Given the description of an element on the screen output the (x, y) to click on. 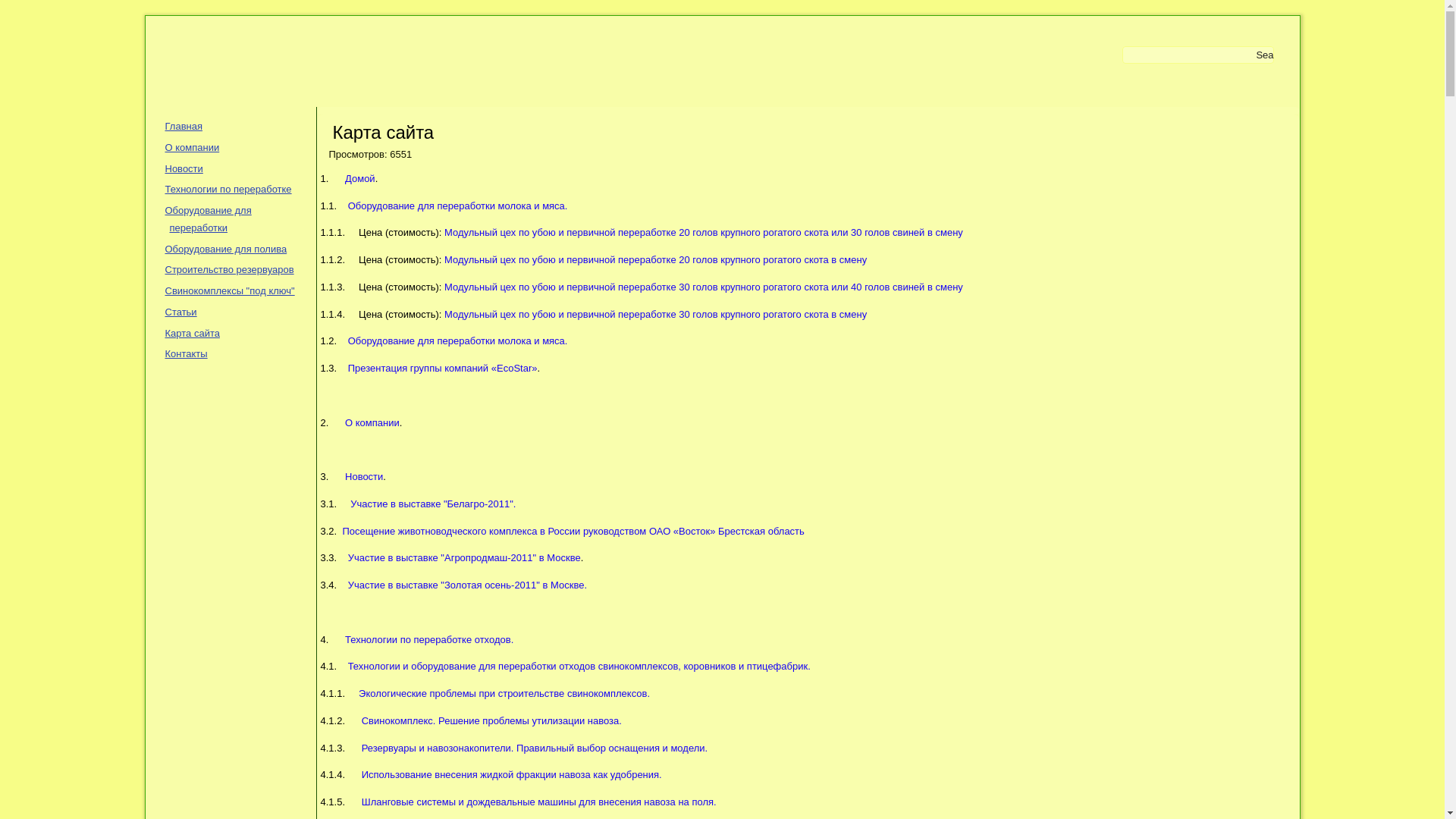
Search Element type: text (1264, 54)
